Given the description of an element on the screen output the (x, y) to click on. 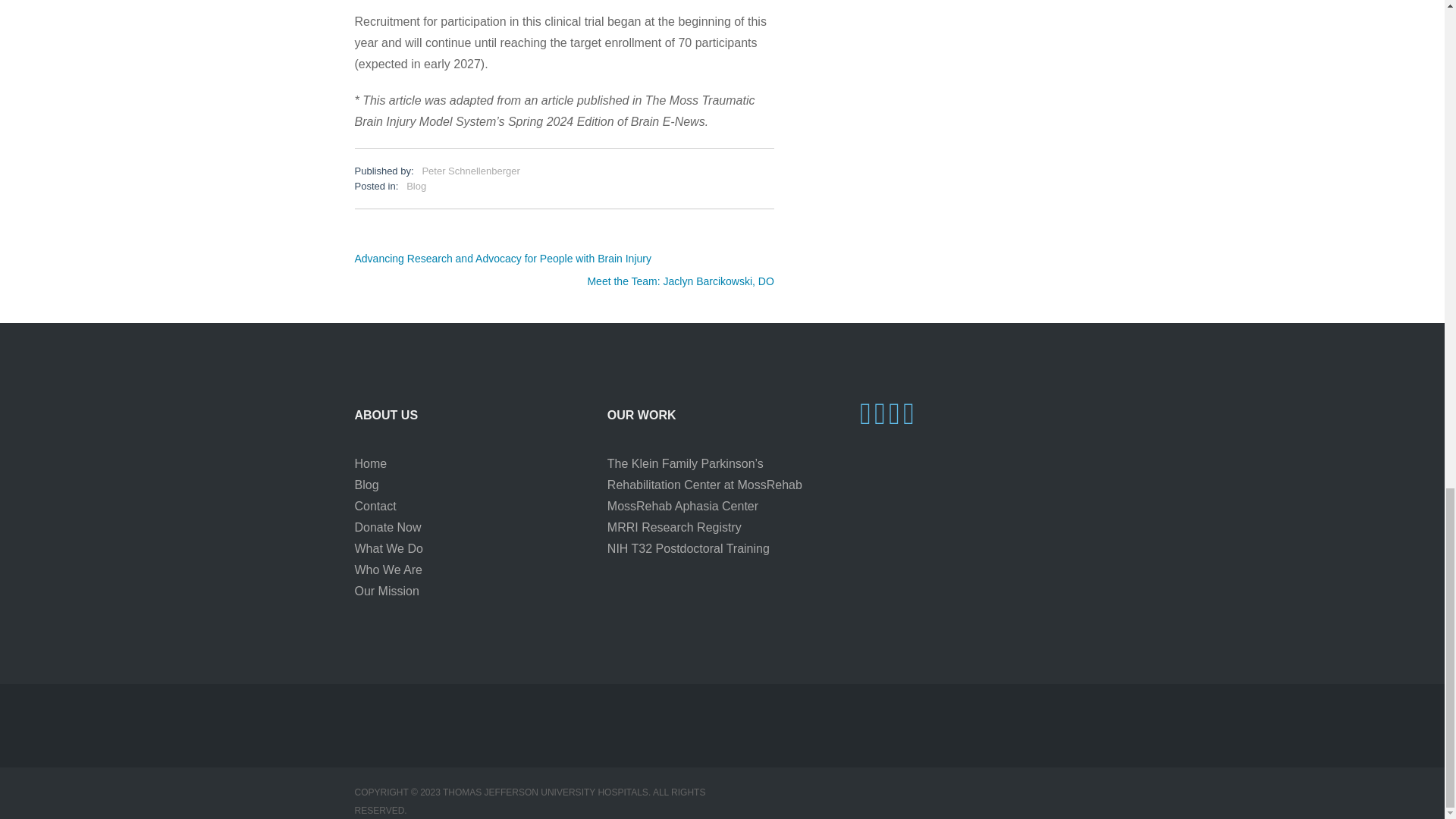
Blog (366, 484)
Home (371, 463)
MossRehab Aphasia Center (682, 505)
Meet the Team: Jaclyn Barcikowski, DO (679, 281)
Peter Schnellenberger (470, 170)
Donate Now (388, 526)
Who We Are (389, 569)
Advancing Research and Advocacy for People with Brain Injury (502, 258)
Contact (375, 505)
What We Do (389, 548)
